Given the description of an element on the screen output the (x, y) to click on. 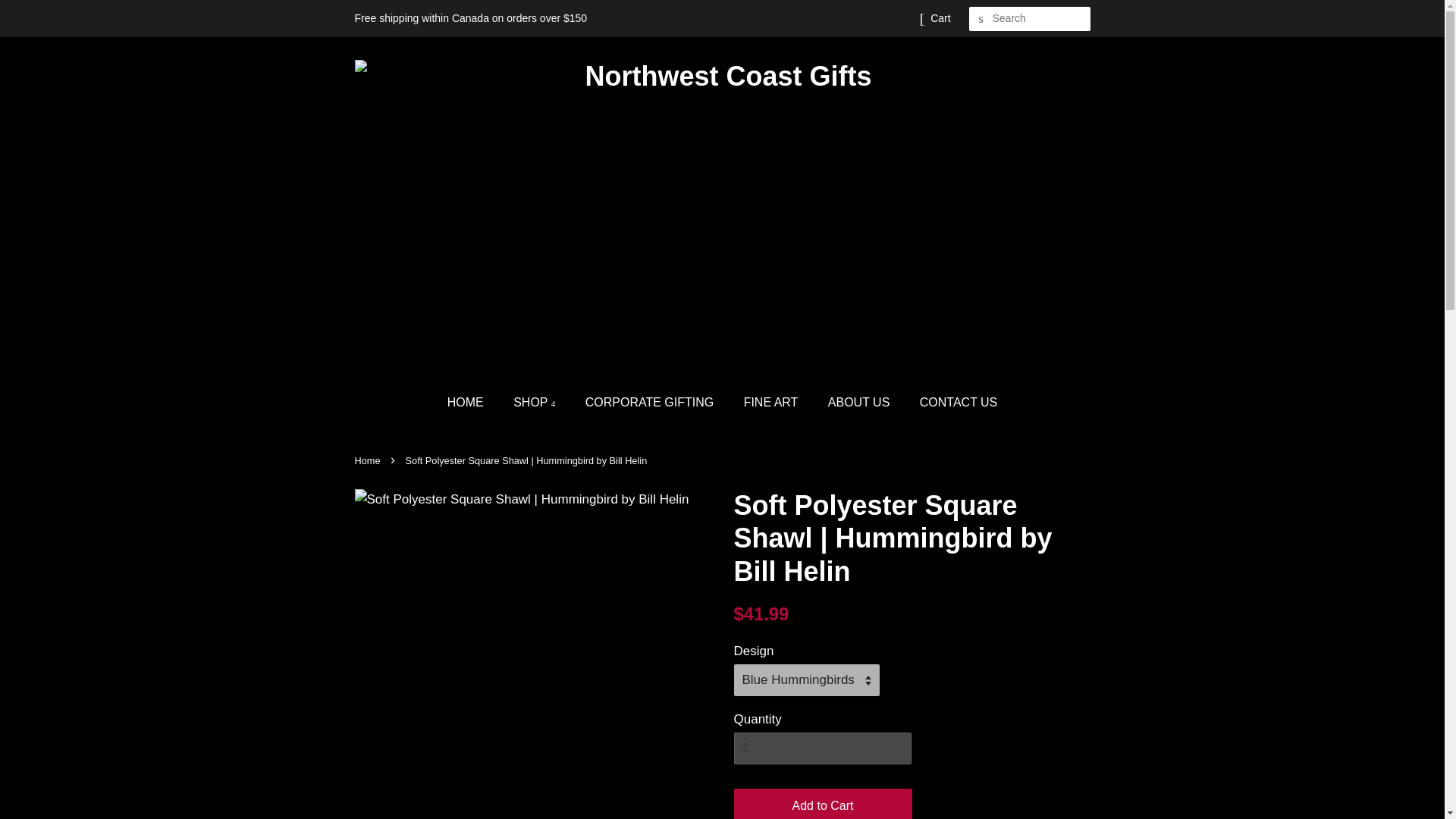
1 (822, 748)
Cart (940, 18)
Search (980, 18)
Back to the frontpage (369, 460)
